Given the description of an element on the screen output the (x, y) to click on. 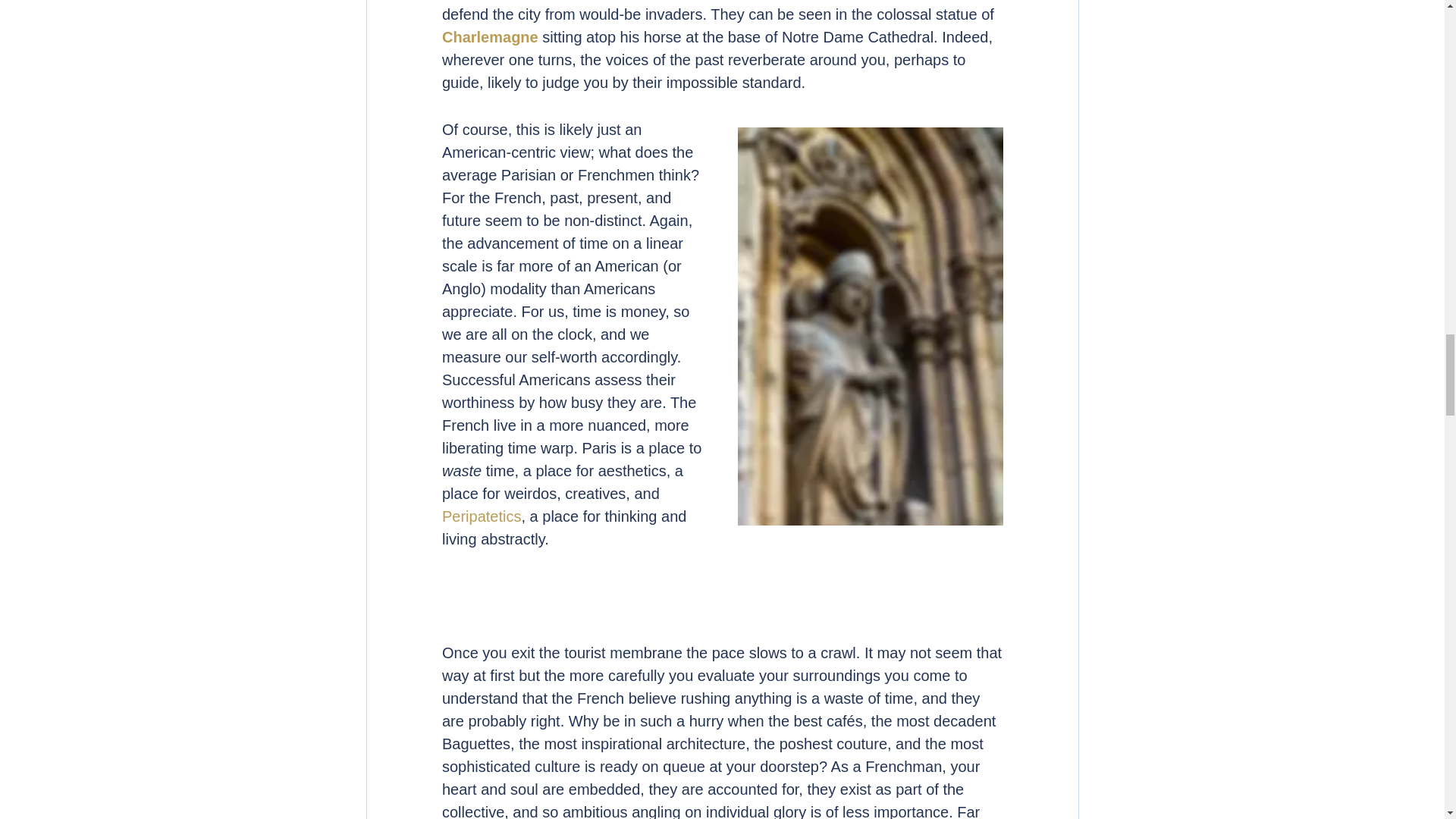
Peripatetics (481, 515)
Charlemagne (489, 36)
